Given the description of an element on the screen output the (x, y) to click on. 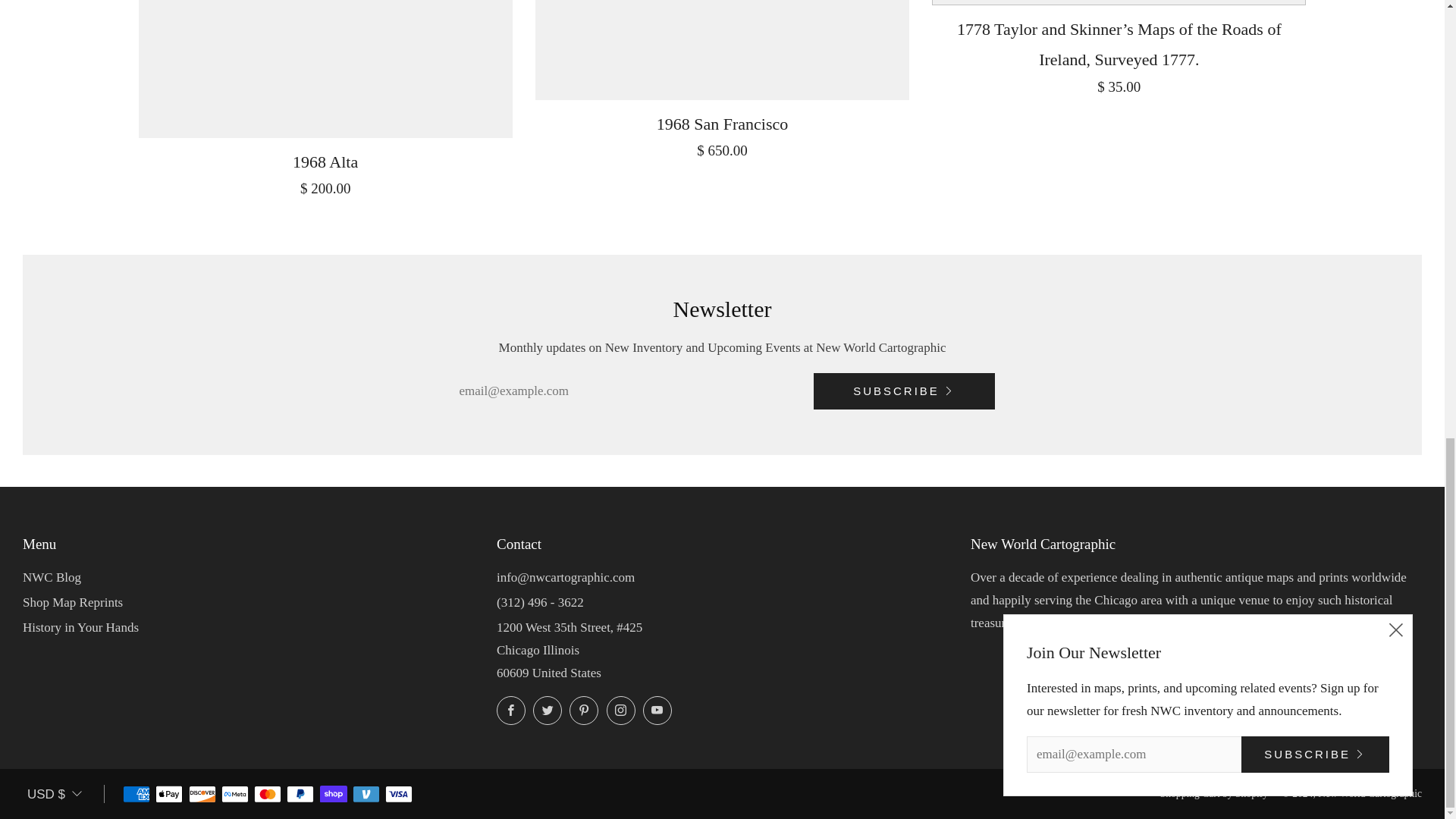
Discover (202, 794)
Venmo (366, 794)
Shop Pay (333, 794)
American Express (135, 794)
PayPal (300, 794)
Visa (398, 794)
Apple Pay (169, 794)
Meta Pay (234, 794)
Mastercard (267, 794)
